Given the description of an element on the screen output the (x, y) to click on. 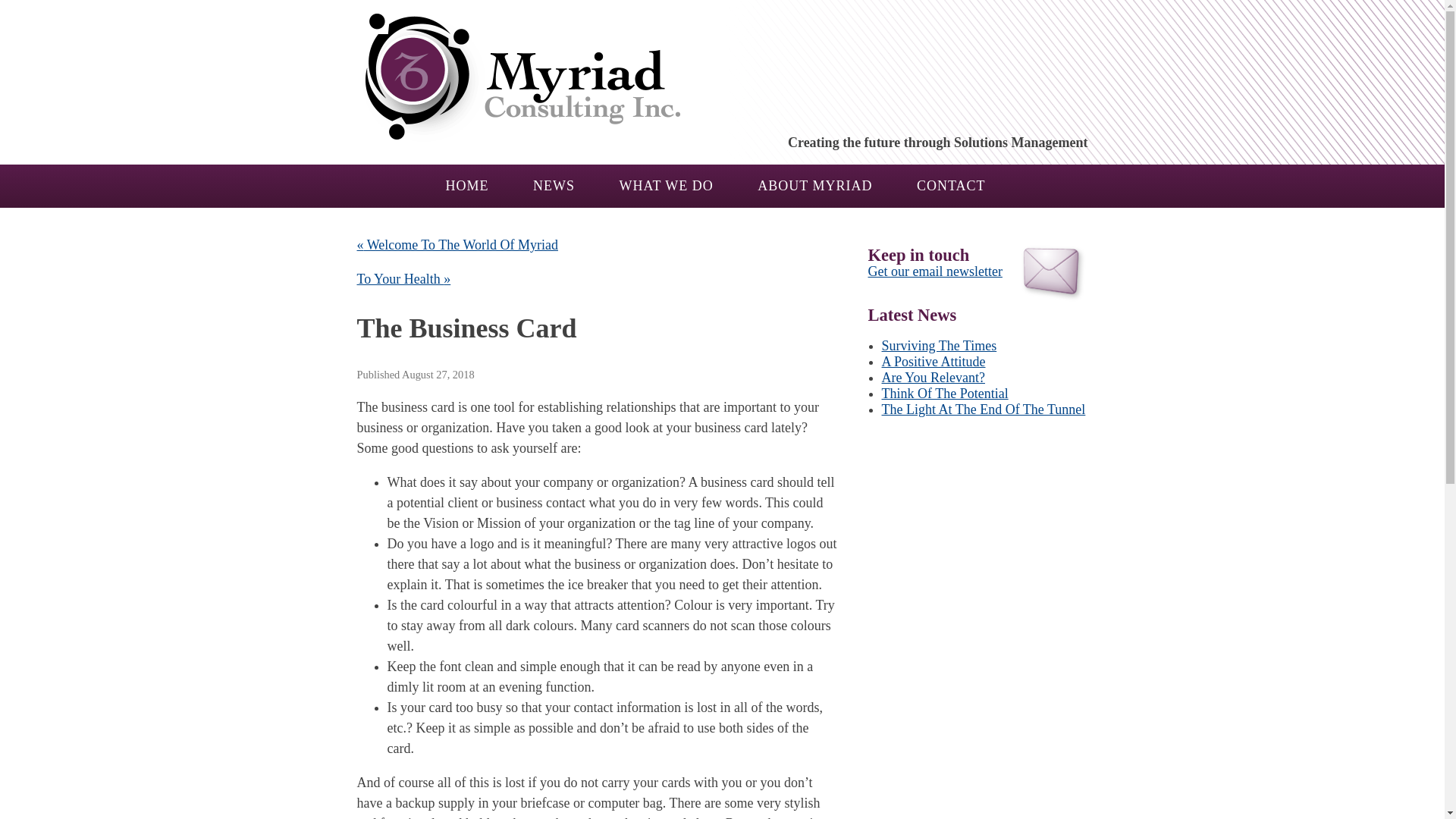
Think Of The Potential (943, 393)
2018-08-27T16:46:22-0700 (437, 374)
NEWS (553, 185)
Get our email newsletter (934, 271)
WHAT WE DO (665, 185)
A Positive Attitude (932, 361)
Are You Relevant? (932, 377)
ABOUT MYRIAD (814, 185)
Surviving The Times (937, 345)
CONTACT (951, 185)
